Given the description of an element on the screen output the (x, y) to click on. 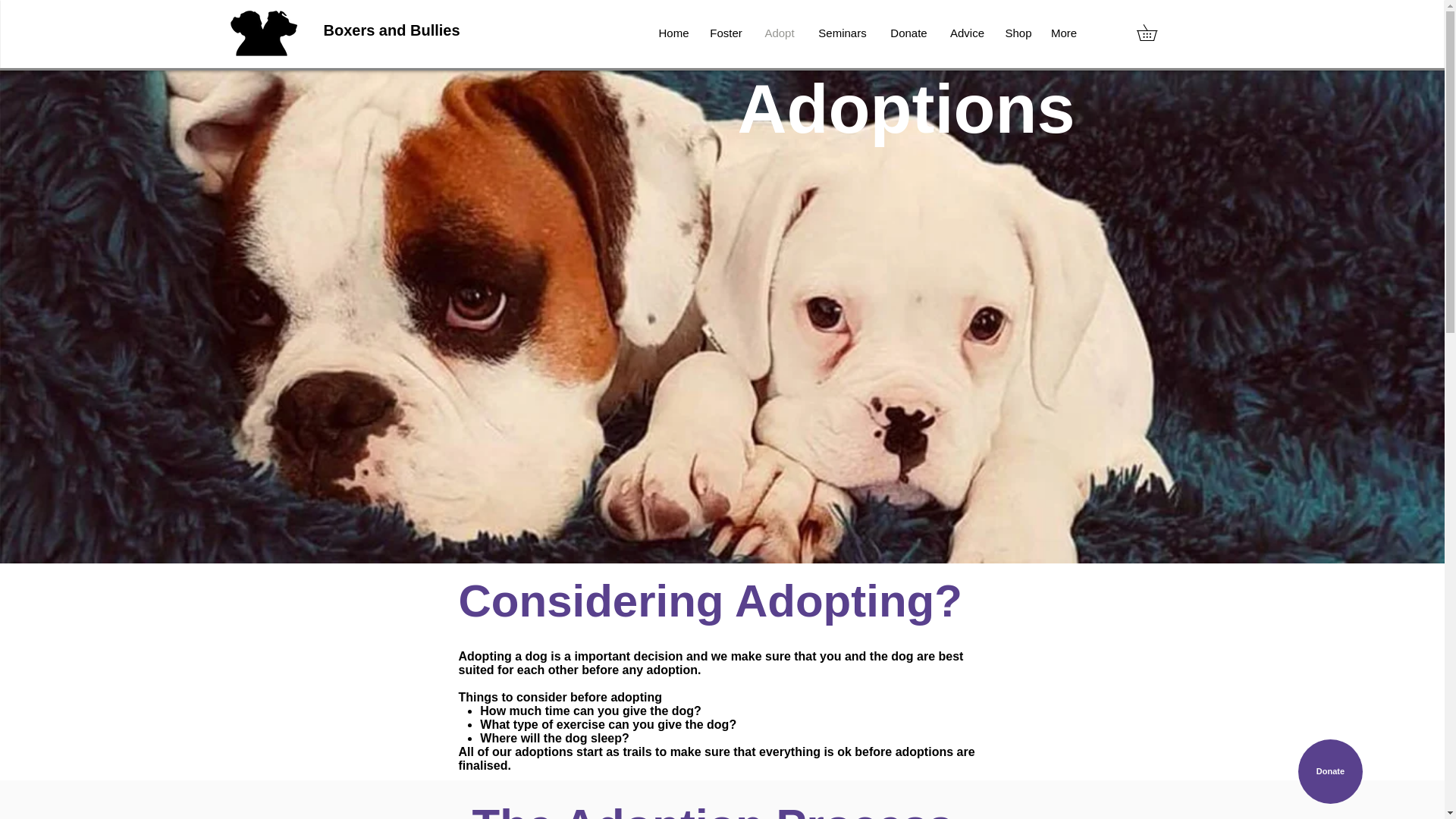
Seminars (842, 33)
Shop (1018, 33)
Home (672, 33)
Donate (1330, 771)
Advice (967, 33)
Donate (909, 33)
Adopt (779, 33)
Foster (725, 33)
